Given the description of an element on the screen output the (x, y) to click on. 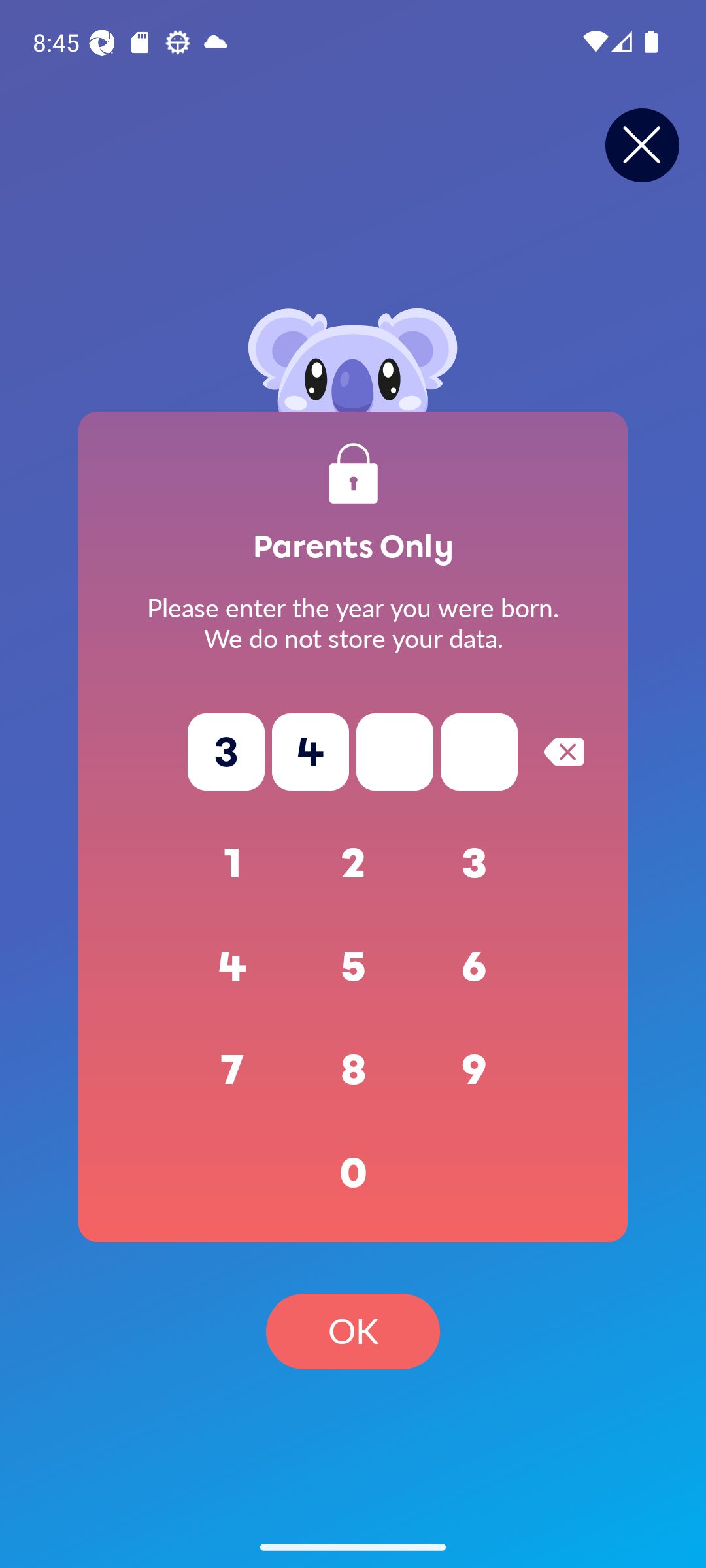
Delete (563, 751)
1 (232, 863)
2 (353, 863)
3 (474, 863)
4 (232, 966)
5 (353, 966)
6 (474, 966)
7 (232, 1069)
8 (353, 1069)
9 (474, 1069)
0 (353, 1173)
OK (352, 1331)
